Given the description of an element on the screen output the (x, y) to click on. 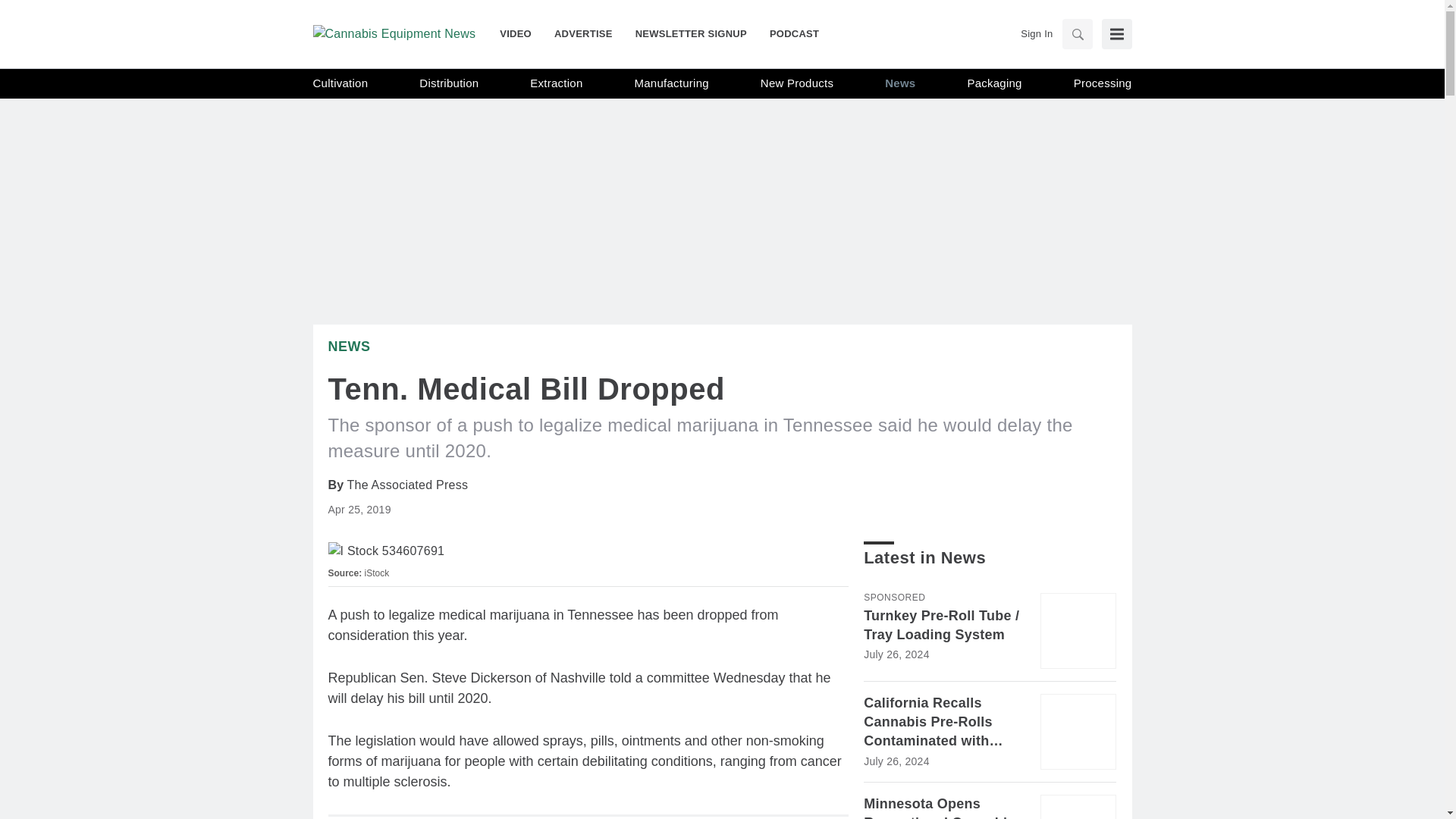
News (900, 83)
Cultivation (340, 83)
NEWSLETTER SIGNUP (691, 33)
PODCAST (788, 33)
Processing (1103, 83)
Distribution (449, 83)
ADVERTISE (583, 33)
Extraction (555, 83)
New Products (796, 83)
VIDEO (521, 33)
Sign In (1036, 33)
Sponsored (893, 596)
News (348, 346)
Packaging (994, 83)
Manufacturing (671, 83)
